Given the description of an element on the screen output the (x, y) to click on. 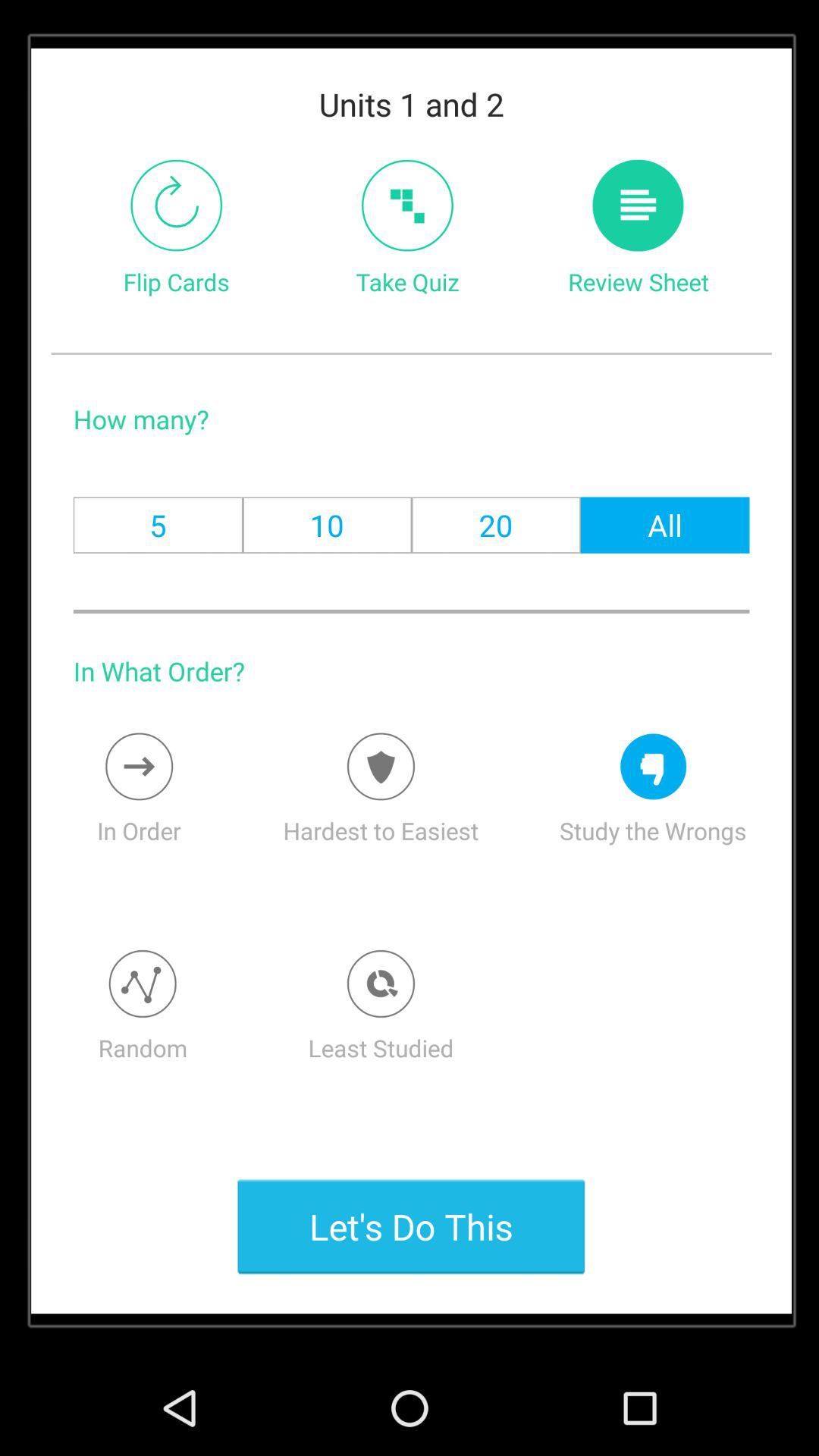
choose the icon above in order (139, 766)
